Given the description of an element on the screen output the (x, y) to click on. 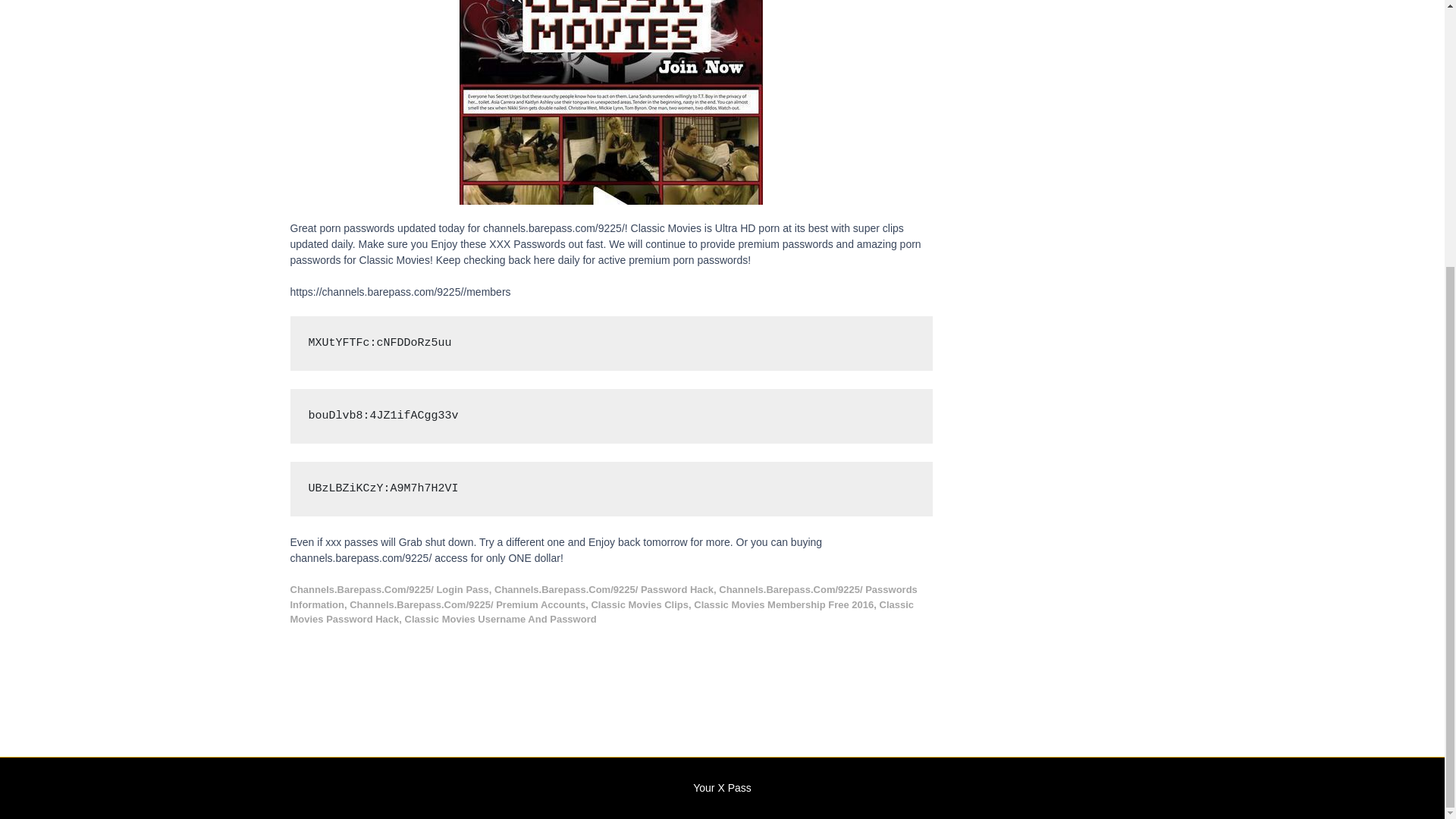
Classic Movies Password Hack (601, 611)
Classic Movies Clips (639, 604)
Classic Movies Username And Password (500, 618)
Classic Movies (611, 102)
Classic Movies Membership Free 2016 (783, 604)
